Given the description of an element on the screen output the (x, y) to click on. 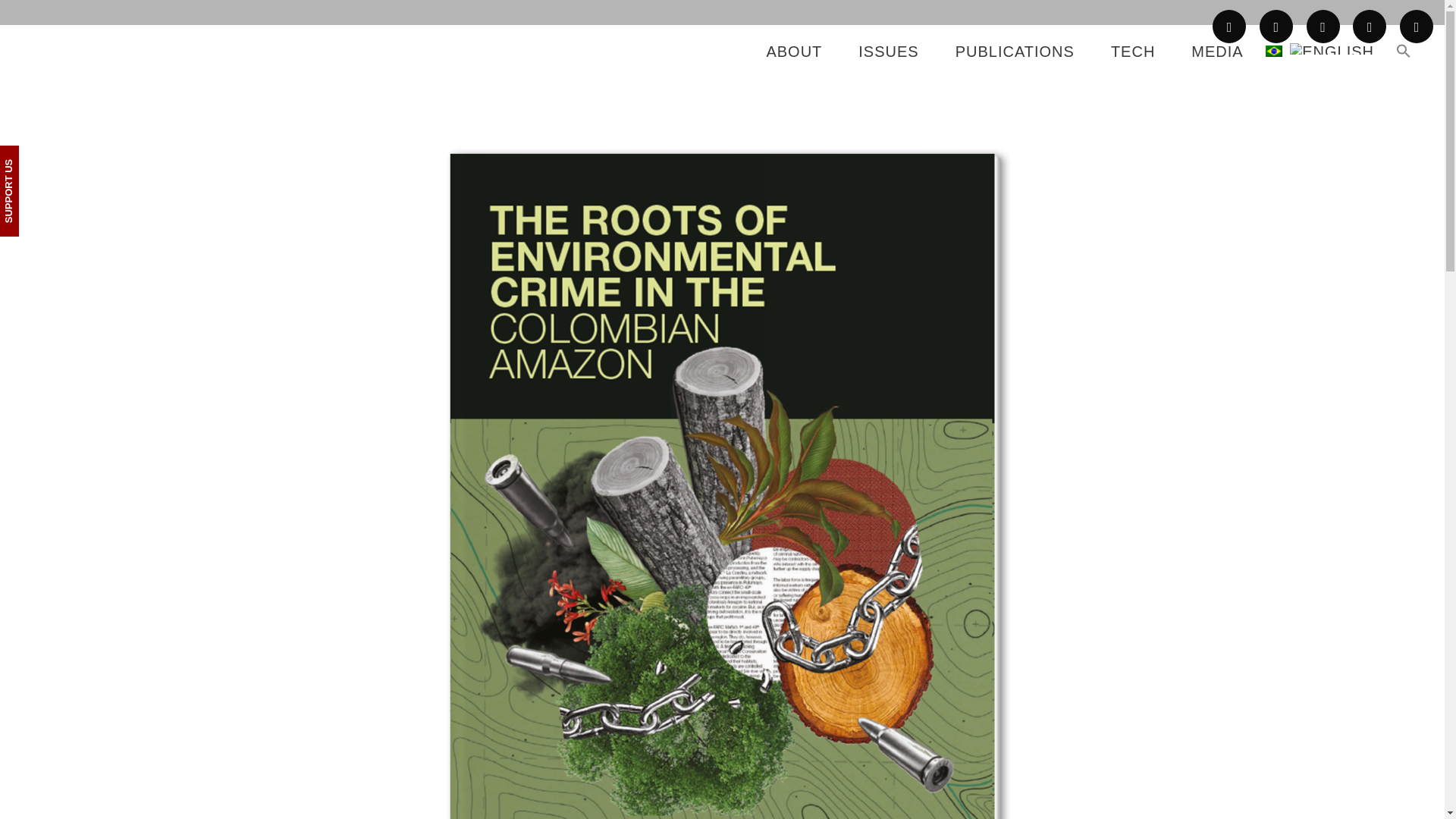
MEDIA (1216, 51)
PUBLICATIONS (1015, 51)
ISSUES (888, 51)
ABOUT (794, 51)
TECH (1133, 51)
